Given the description of an element on the screen output the (x, y) to click on. 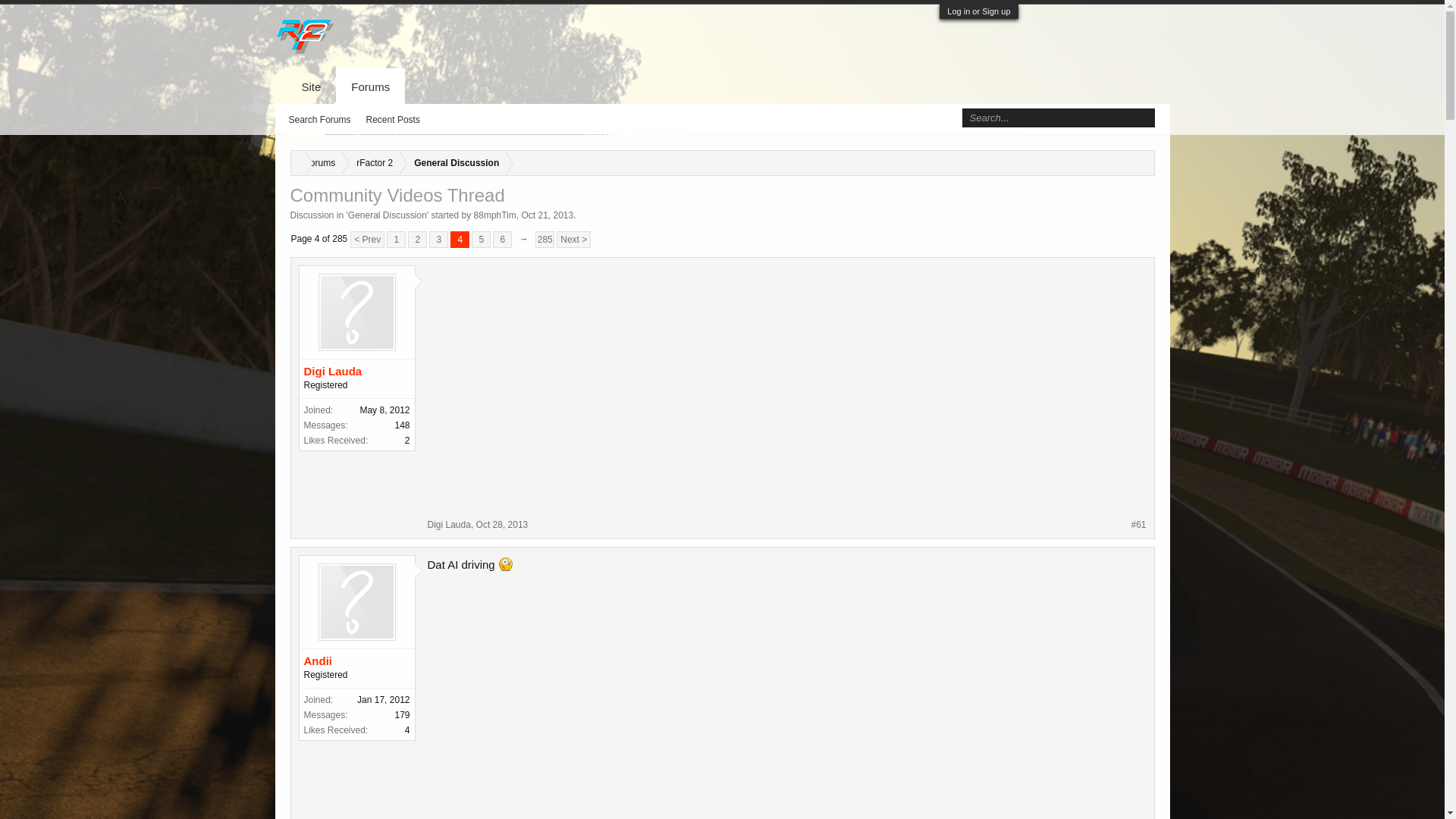
Digi Lauda (355, 371)
rFactor 2 (371, 163)
Forums (317, 163)
Permalink (1138, 524)
Oct 28, 2013 (502, 524)
179 (401, 715)
4 (458, 239)
Log in or Sign up (978, 10)
88mphTim (495, 214)
Open quick navigation (1141, 160)
148 (401, 425)
General Discussion (386, 214)
6 (502, 239)
Oct 21, 2013 (547, 214)
Permalink (502, 524)
